Given the description of an element on the screen output the (x, y) to click on. 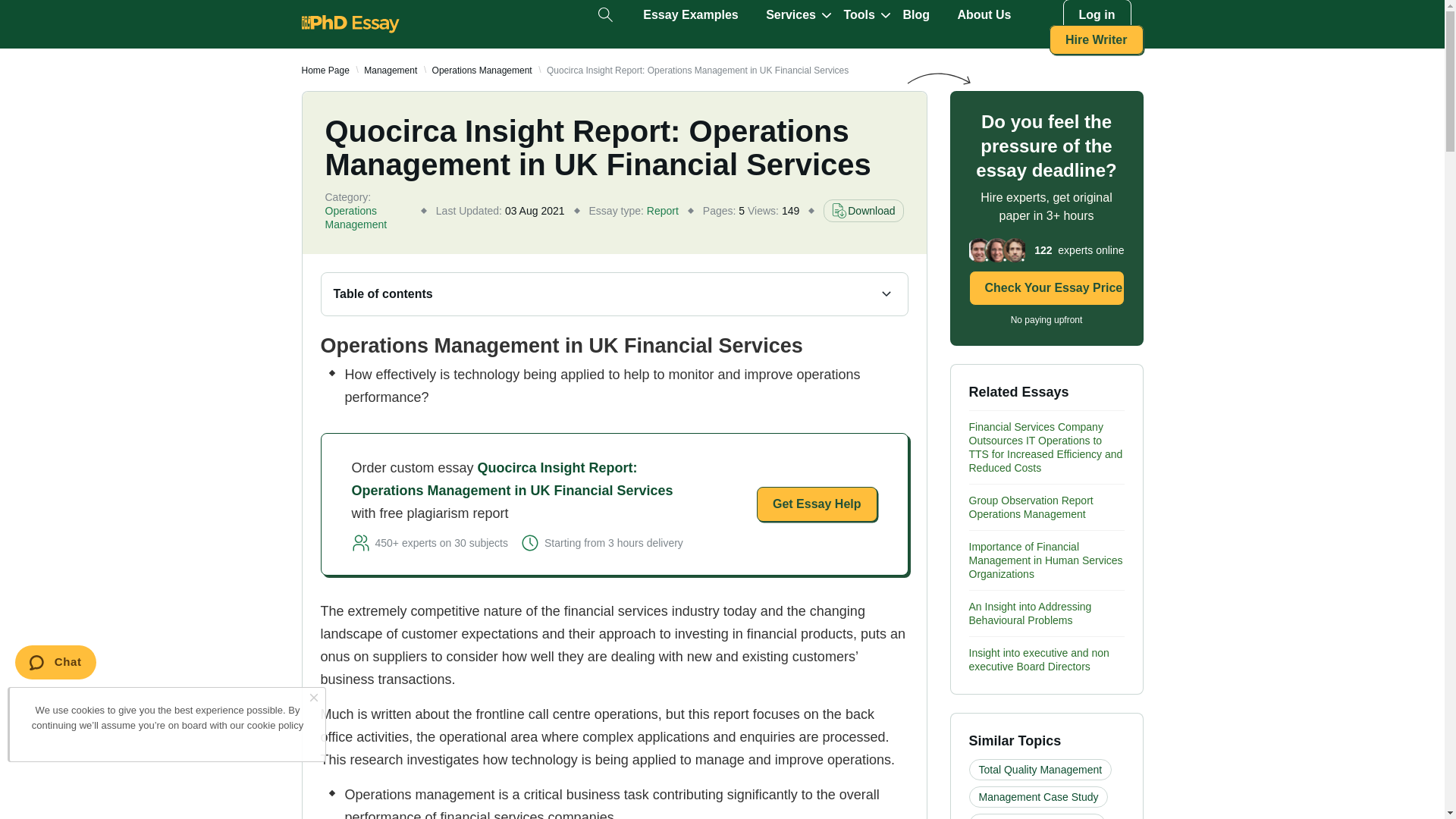
Management (390, 70)
Get Essay Help (817, 503)
Download (863, 210)
Operations Management (482, 70)
Home Page (325, 70)
About Us (983, 15)
Services (790, 15)
Log in (1096, 15)
Hire Writer (1095, 39)
Essay Examples (690, 15)
